Given the description of an element on the screen output the (x, y) to click on. 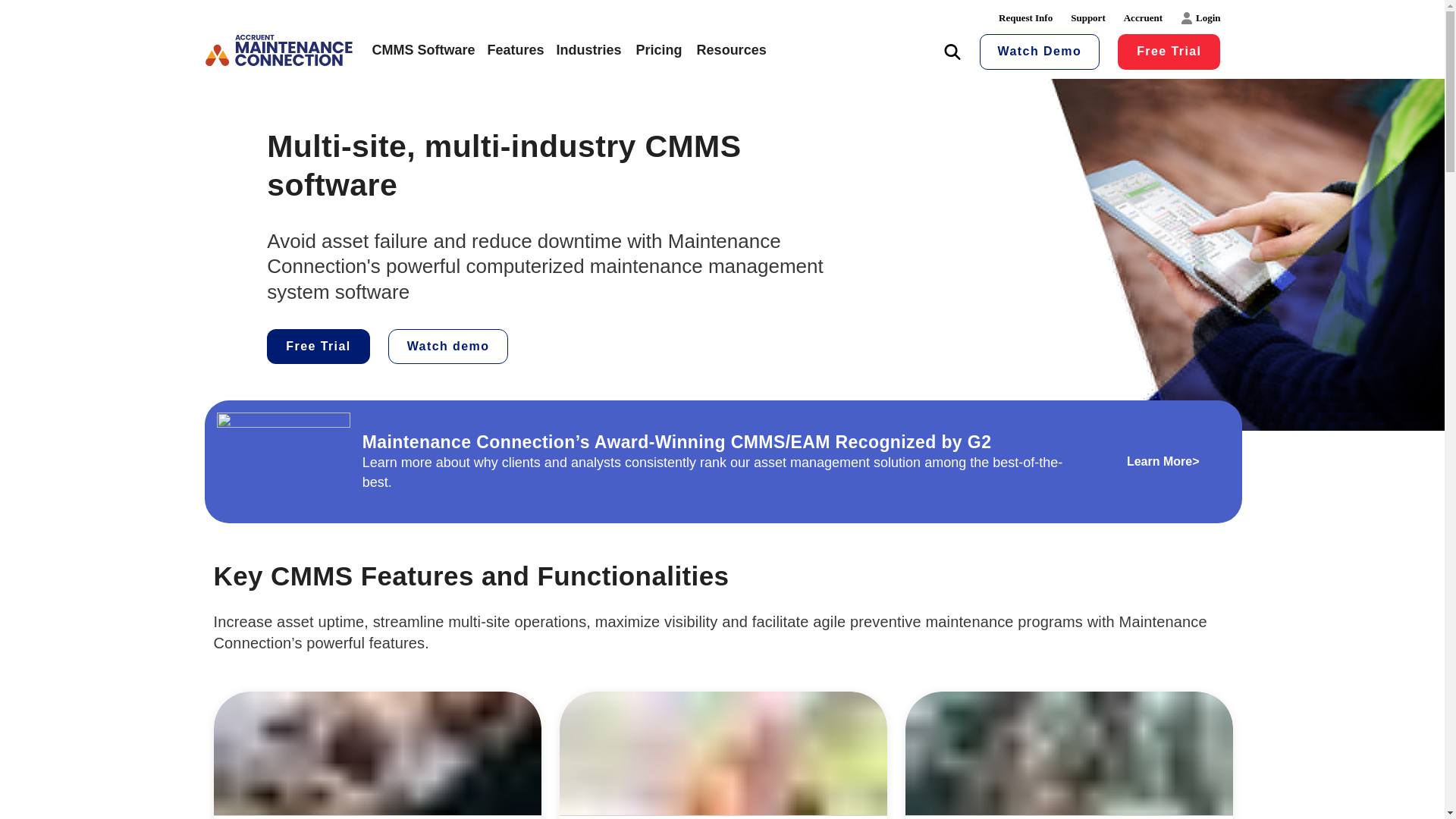
Request Info (1025, 17)
Accruent (1143, 17)
Login (1201, 17)
Support (1088, 17)
